Given the description of an element on the screen output the (x, y) to click on. 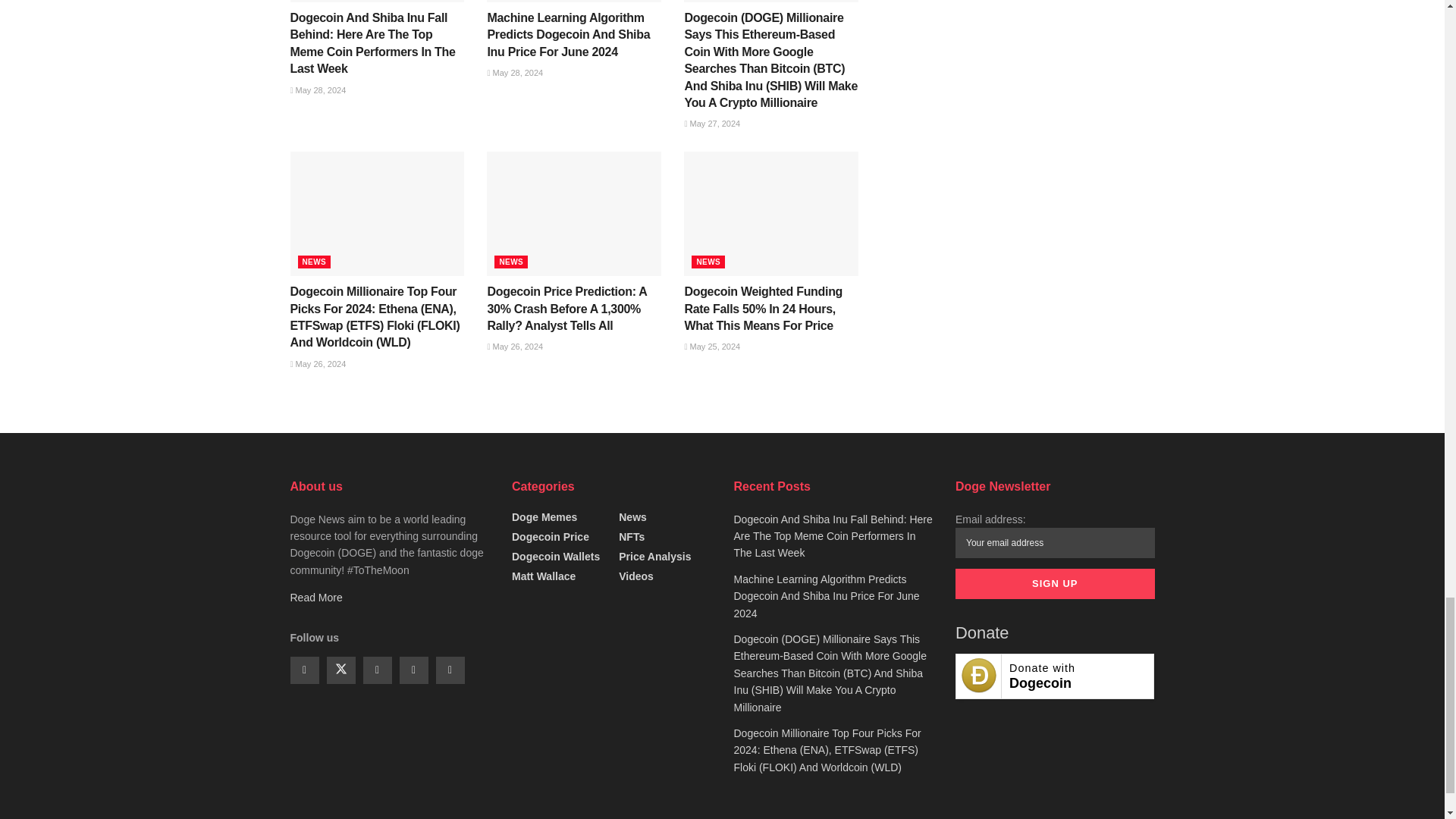
Sign up (1054, 583)
